Given the description of an element on the screen output the (x, y) to click on. 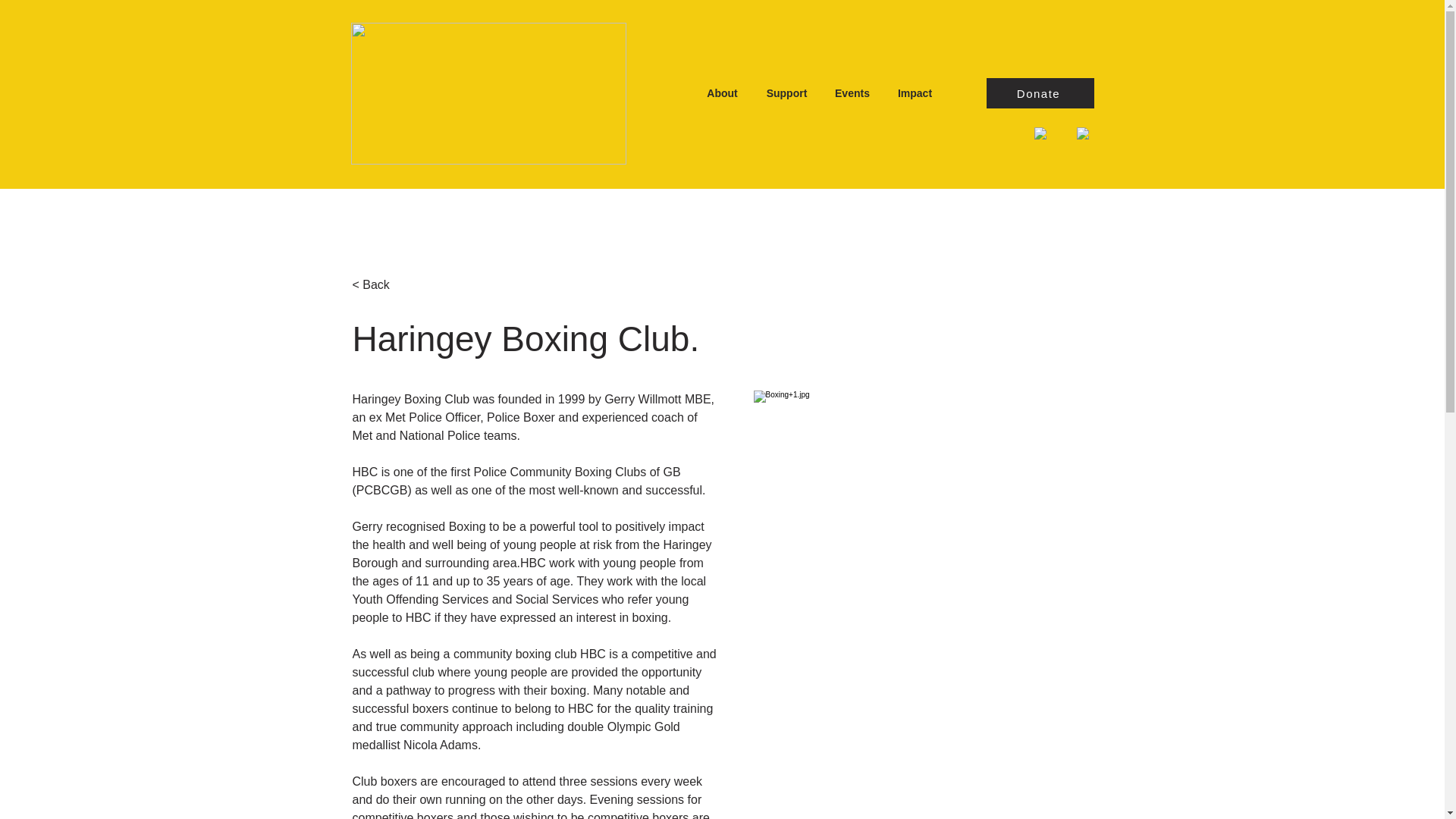
linkedin-logo.png (991, 133)
linkedin-logo.png (1085, 133)
Events (852, 92)
linkedin-logo.png (1039, 133)
Support (787, 92)
About (722, 92)
Impact (914, 92)
Donate (1039, 92)
